Given the description of an element on the screen output the (x, y) to click on. 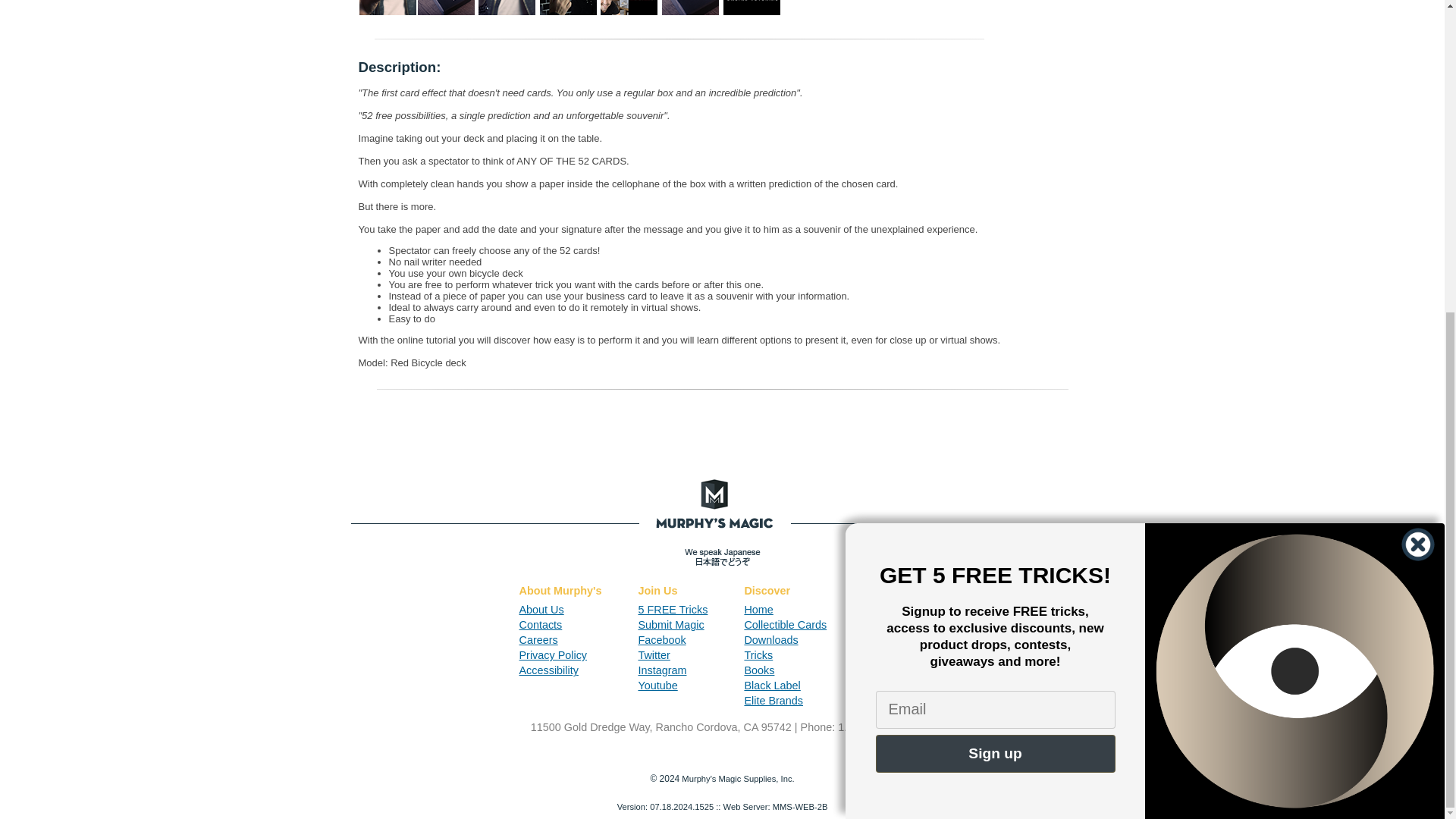
Sign up (995, 255)
